Given the description of an element on the screen output the (x, y) to click on. 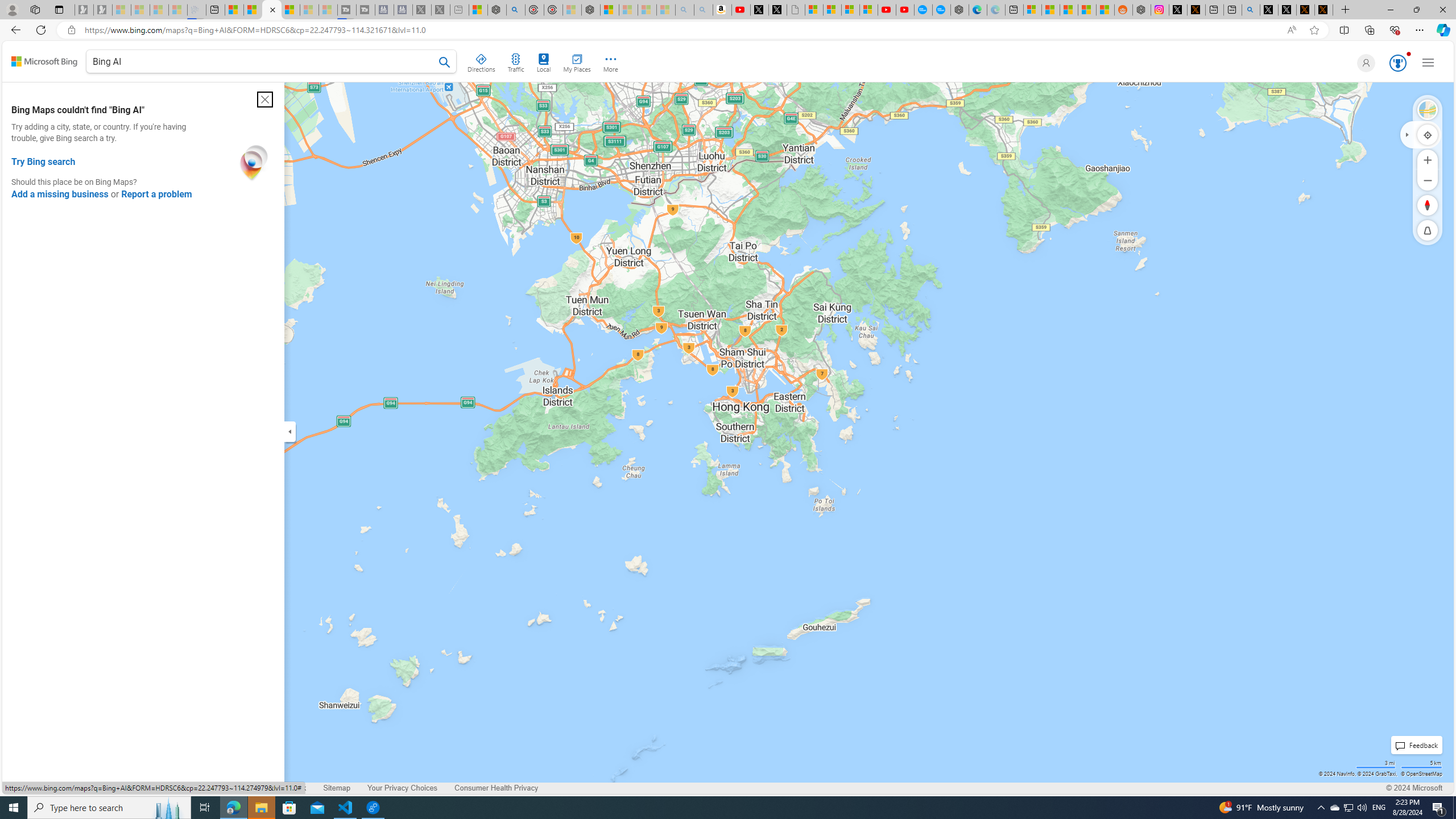
Satellite (1427, 109)
Back to Bing search (44, 60)
Privacy and Cookies (44, 787)
Consumer Health Privacy (496, 787)
Add a search (263, 60)
Sitemap (336, 787)
Amazon Echo Dot PNG - Search Images - Sleeping (702, 9)
